Given the description of an element on the screen output the (x, y) to click on. 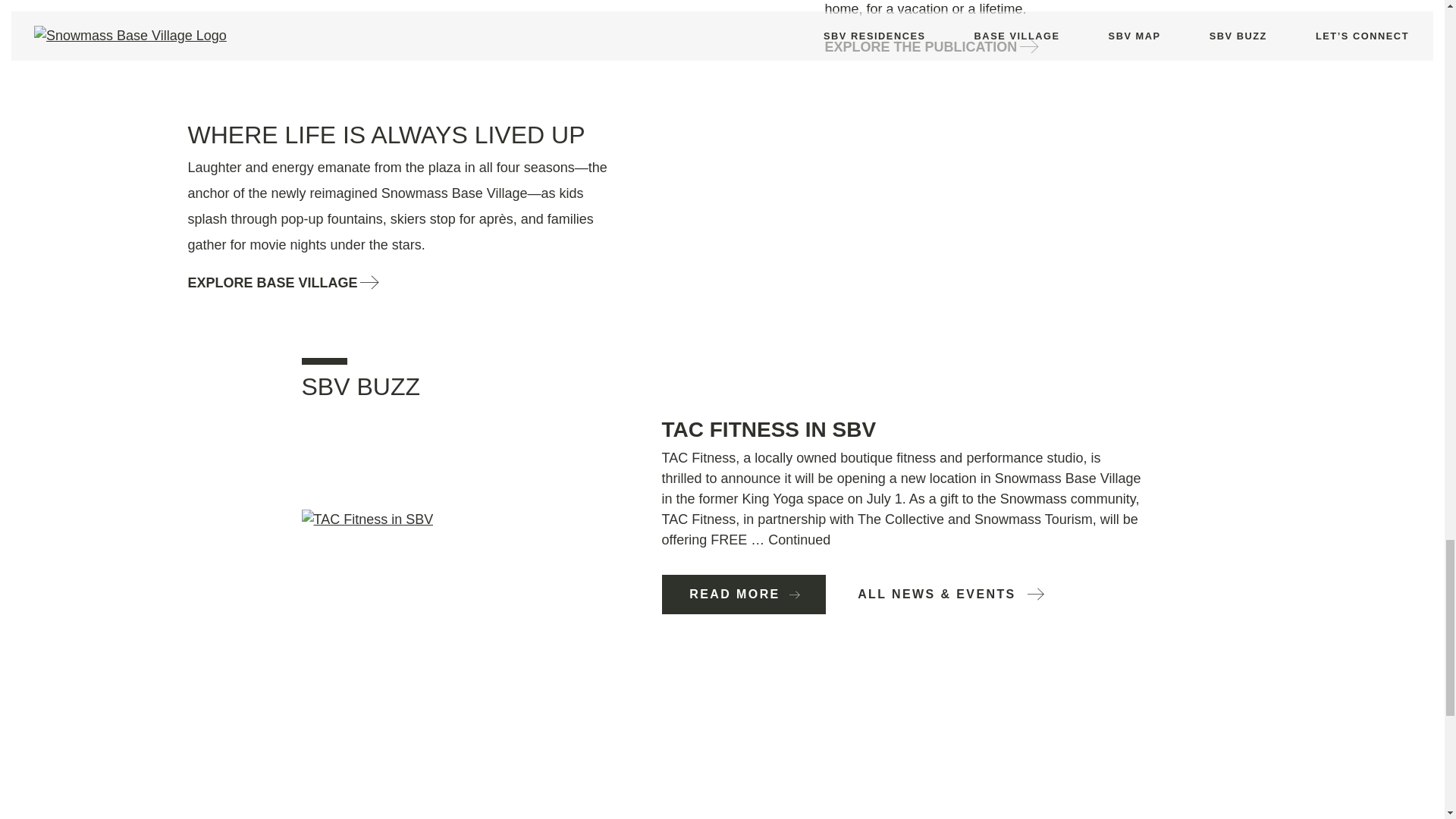
READ MORE (743, 594)
EXPLORE BASE VILLAGE (282, 282)
EXPLORE THE PUBLICATION (929, 46)
